Given the description of an element on the screen output the (x, y) to click on. 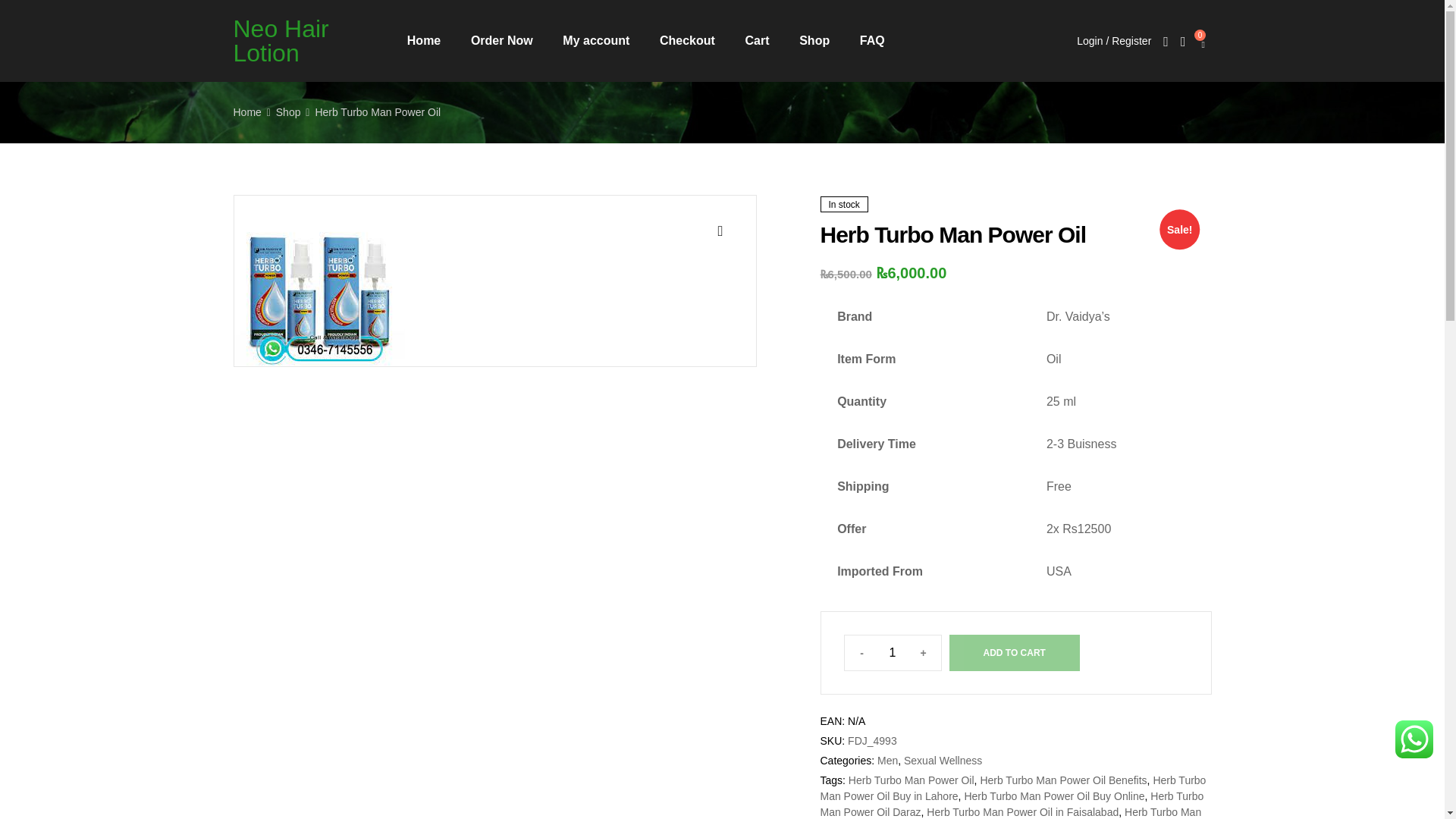
Neo Hair Lotion (280, 40)
ADD TO CART (1014, 652)
- (861, 652)
Herb Turbo Man Power Oil Benefits (1063, 779)
Checkout (687, 40)
Home (423, 40)
Order Now (501, 40)
Shop (288, 111)
Herb Turbo Man Power Oil Daraz (1012, 804)
Sexual Wellness (942, 760)
Herb Turbo Man Power Oil Buy in Lahore (1014, 787)
Herb Turbo Man Power Oil (911, 779)
Herb Turbo Man Power Oil in Faisalabad (1022, 811)
Shop (814, 40)
Home (247, 111)
